Given the description of an element on the screen output the (x, y) to click on. 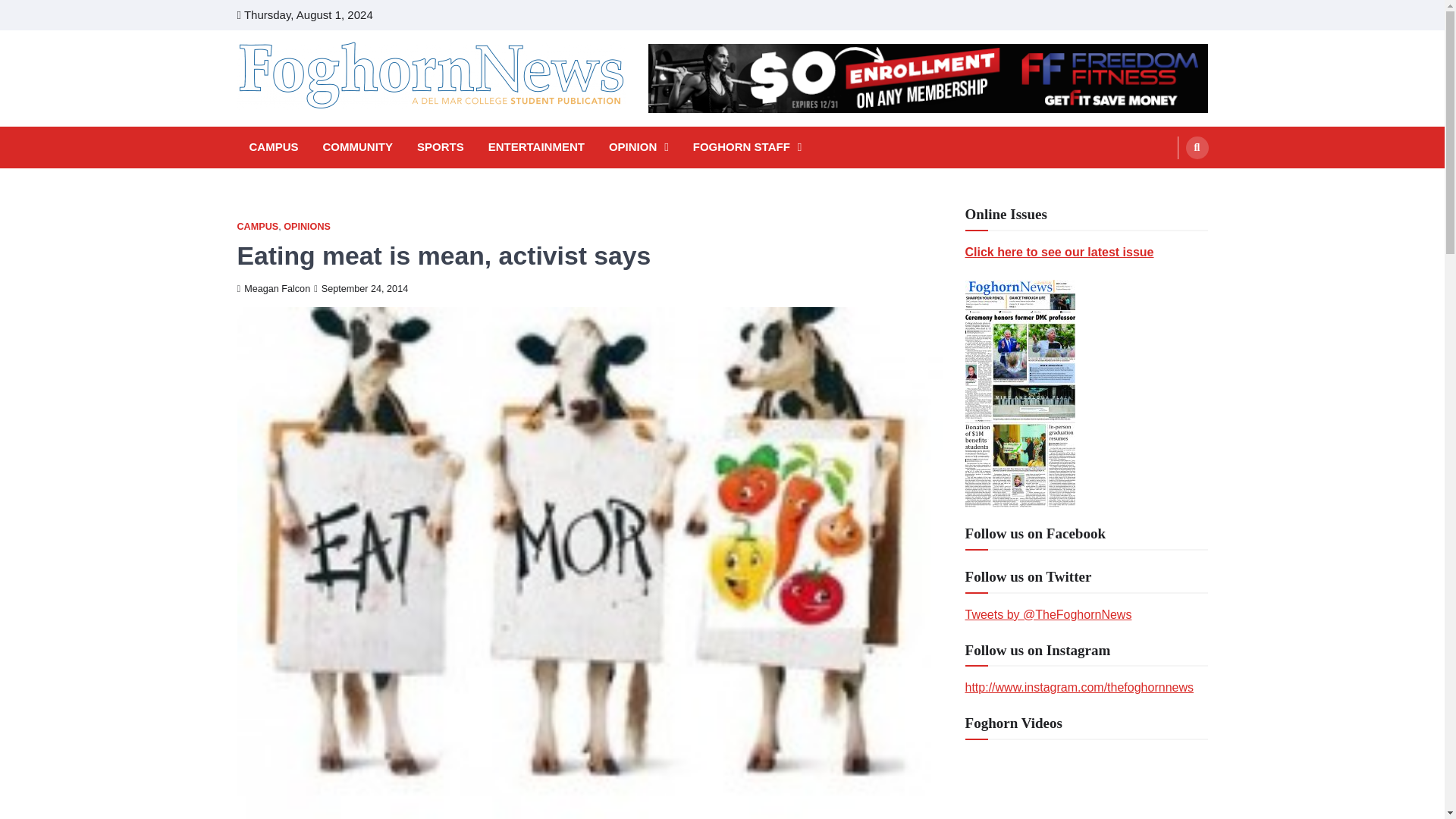
September 24, 2014 (360, 288)
FOGHORN STAFF (747, 147)
Search (1168, 183)
FOGHORN NEWS (342, 130)
ENTERTAINMENT (536, 147)
CAMPUS (273, 147)
Search (1197, 147)
Meagan Falcon (272, 288)
SPORTS (440, 147)
COMMUNITY (357, 147)
OPINIONS (306, 226)
OPINION (638, 147)
Click here to see our latest issue (1058, 251)
CAMPUS (256, 226)
